Given the description of an element on the screen output the (x, y) to click on. 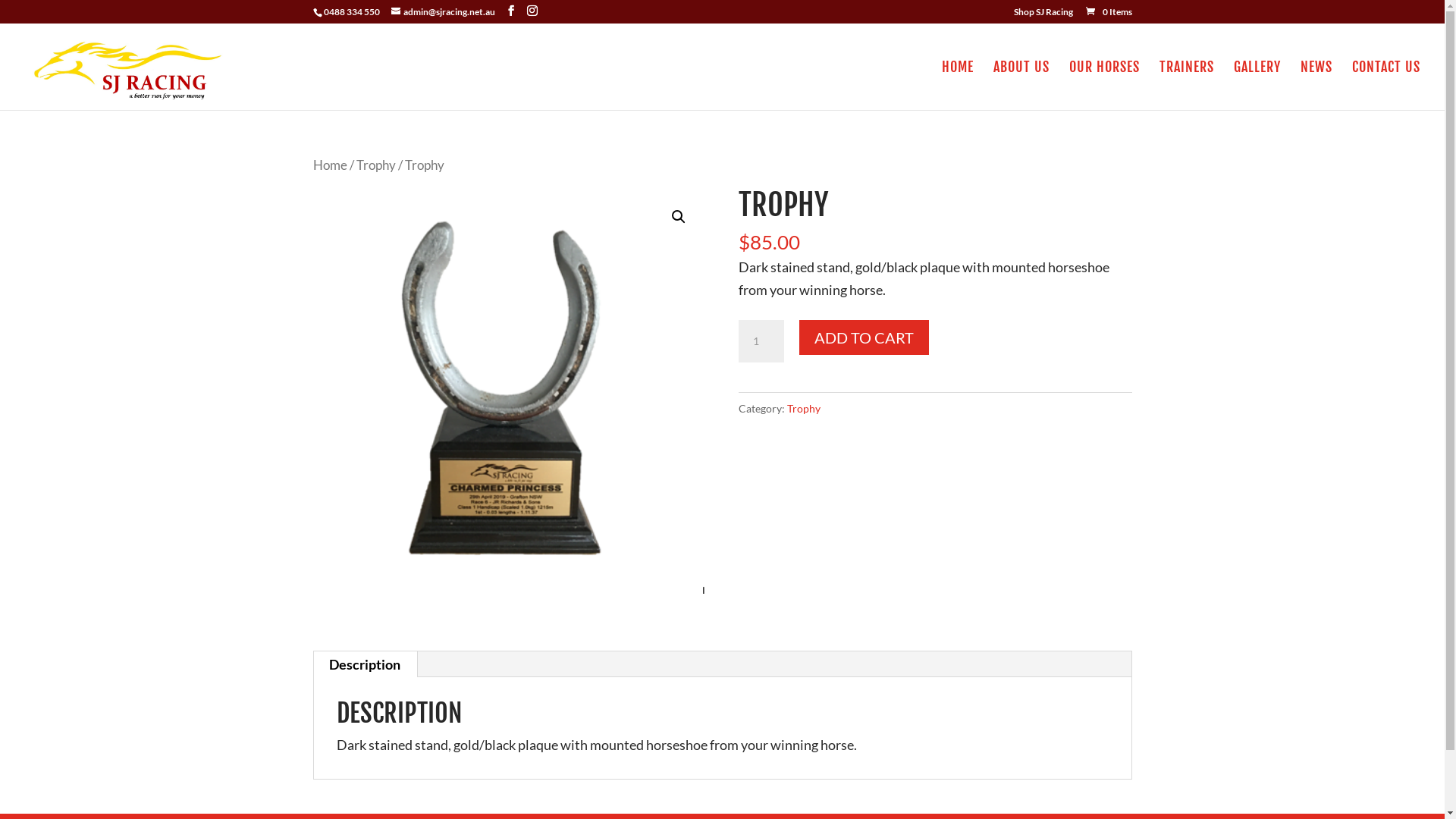
Shop SJ Racing Element type: text (1042, 15)
Trophy Element type: text (375, 164)
Trophy SJ Racing Element type: hover (508, 391)
admin@sjracing.net.au Element type: text (443, 11)
GALLERY Element type: text (1256, 85)
TRAINERS Element type: text (1186, 85)
HOME Element type: text (957, 85)
Description Element type: text (364, 664)
Home Element type: text (329, 164)
CONTACT US Element type: text (1386, 85)
OUR HORSES Element type: text (1104, 85)
Trophy Element type: text (803, 407)
NEWS Element type: text (1316, 85)
ADD TO CART Element type: text (863, 337)
0 Items Element type: text (1108, 11)
ABOUT US Element type: text (1021, 85)
